Given the description of an element on the screen output the (x, y) to click on. 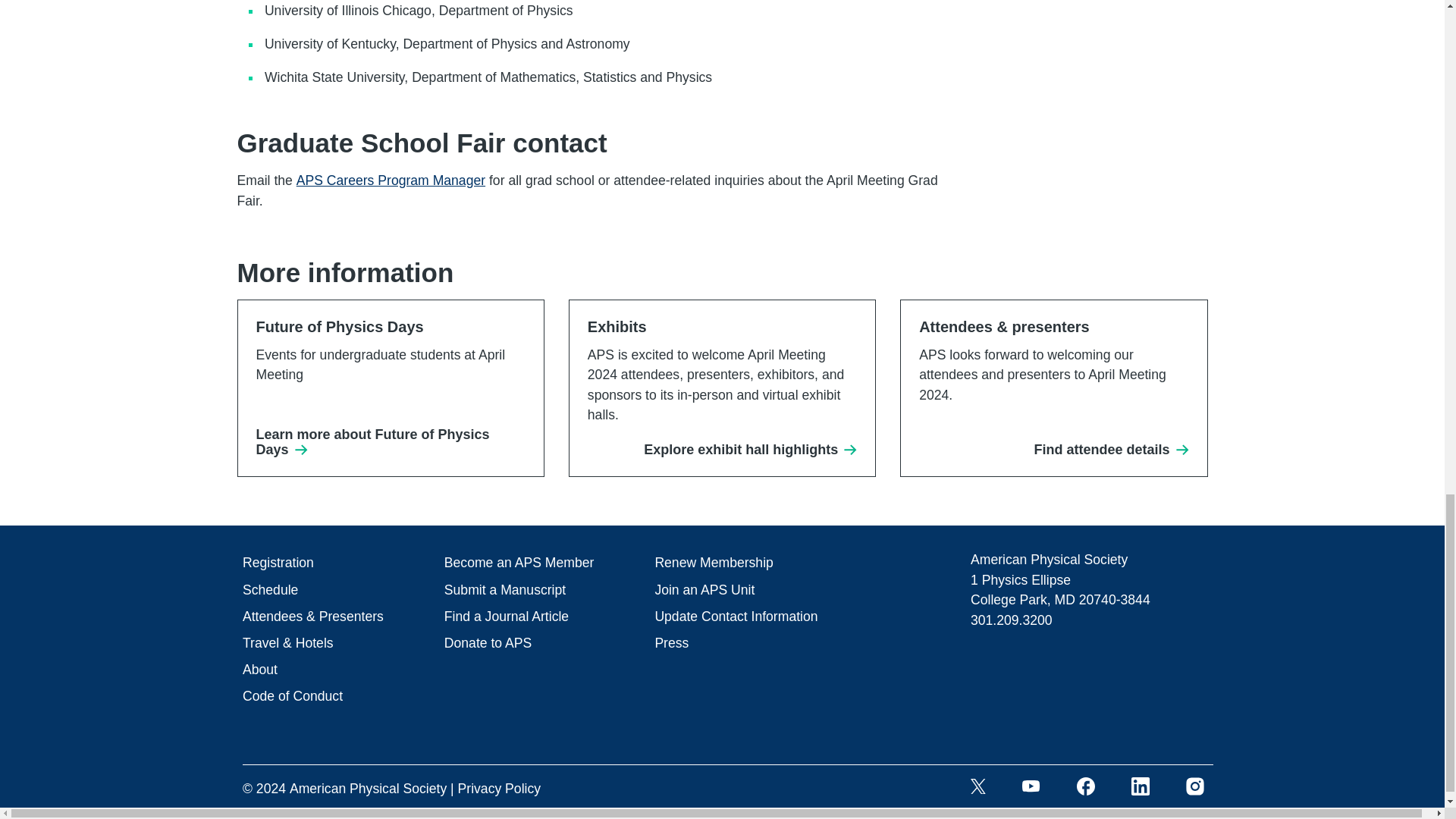
Explore exhibit hall highlights (750, 450)
Submit a Manuscript (505, 589)
Find a Journal Article (506, 616)
Renew Membership (713, 563)
Press (670, 642)
Donate to APS (487, 642)
American Physical Society (367, 788)
Schedule (270, 589)
APS Careers Program Manager (390, 180)
Update Contact Information (734, 616)
